Given the description of an element on the screen output the (x, y) to click on. 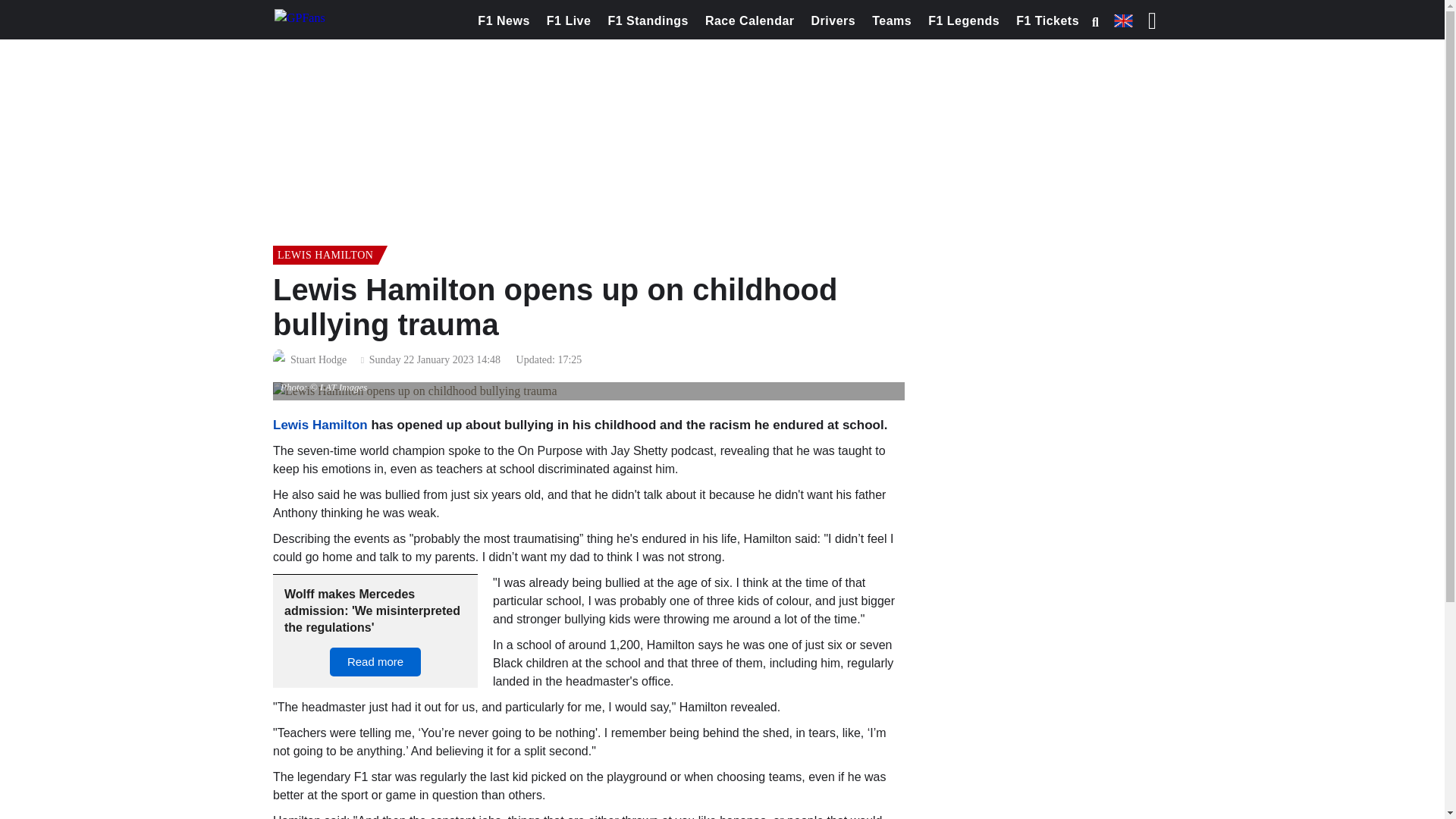
Activate search (1095, 22)
F1 Tickets (1047, 21)
Race Calendar (749, 21)
Stuart Hodge (317, 360)
F1 Live (568, 21)
F1 Legends (963, 21)
Drivers (833, 21)
F1 News (502, 21)
F1 Standings (647, 21)
Lewis Hamilton (320, 424)
Teams (891, 21)
